Given the description of an element on the screen output the (x, y) to click on. 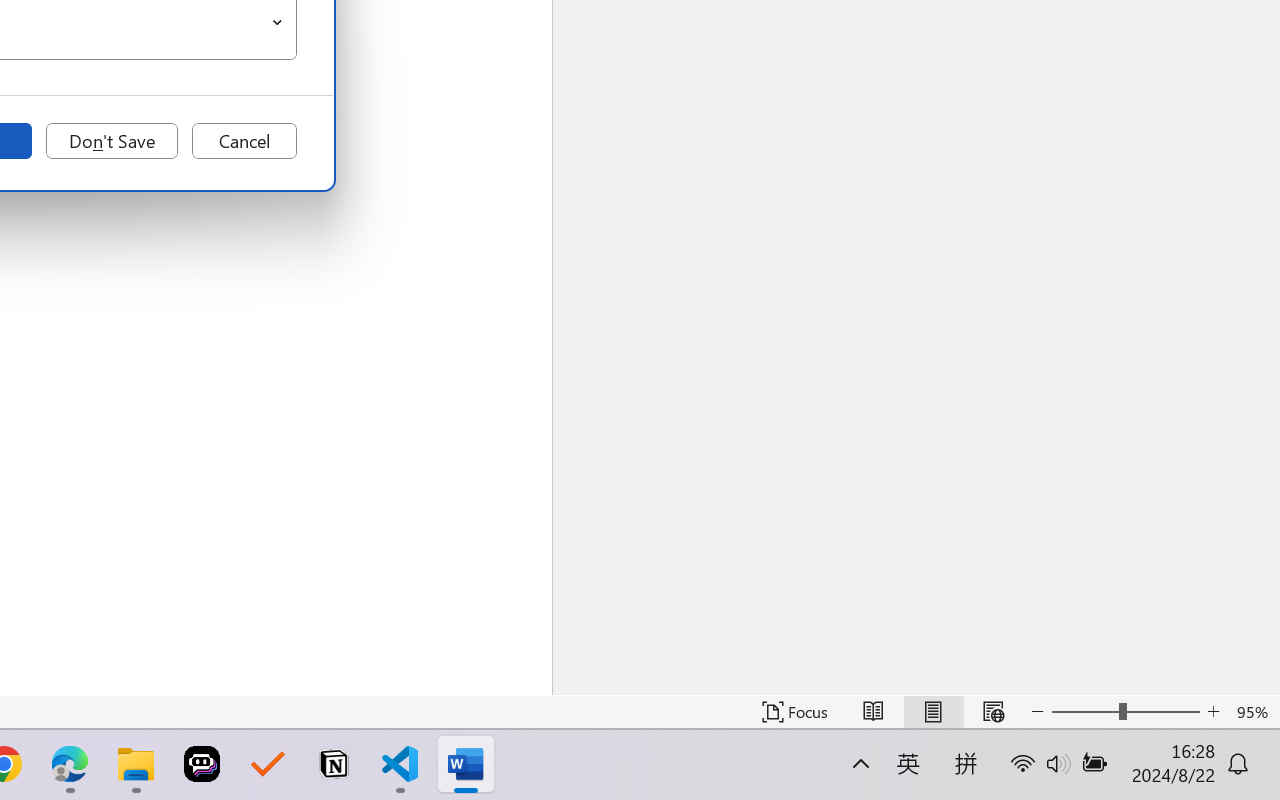
Page down (1267, 518)
Cancel (244, 141)
Notion (333, 764)
Poe (201, 764)
Line down (1267, 681)
